Given the description of an element on the screen output the (x, y) to click on. 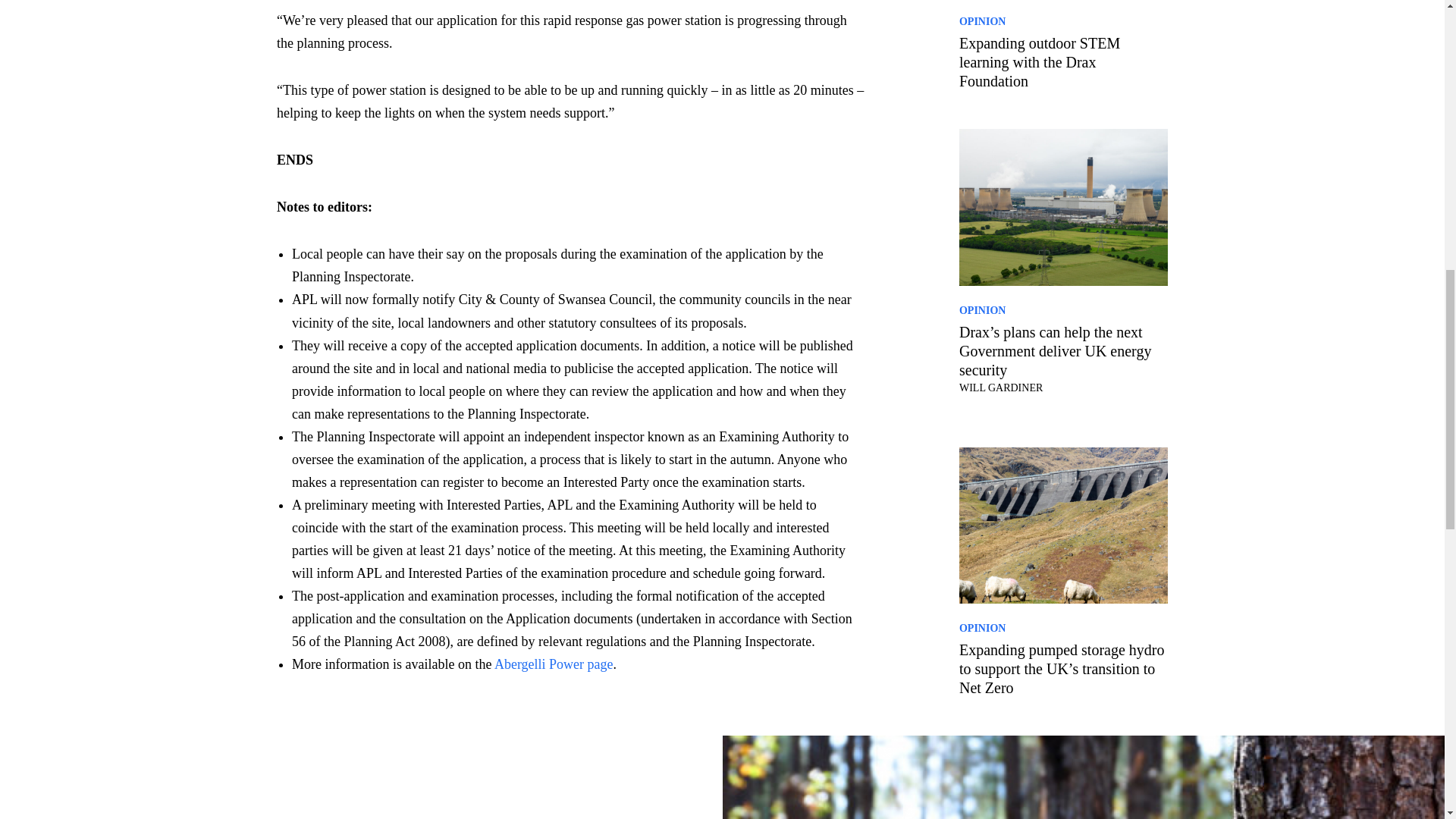
Expanding outdoor STEM learning with the Drax Foundation (1063, 62)
